Given the description of an element on the screen output the (x, y) to click on. 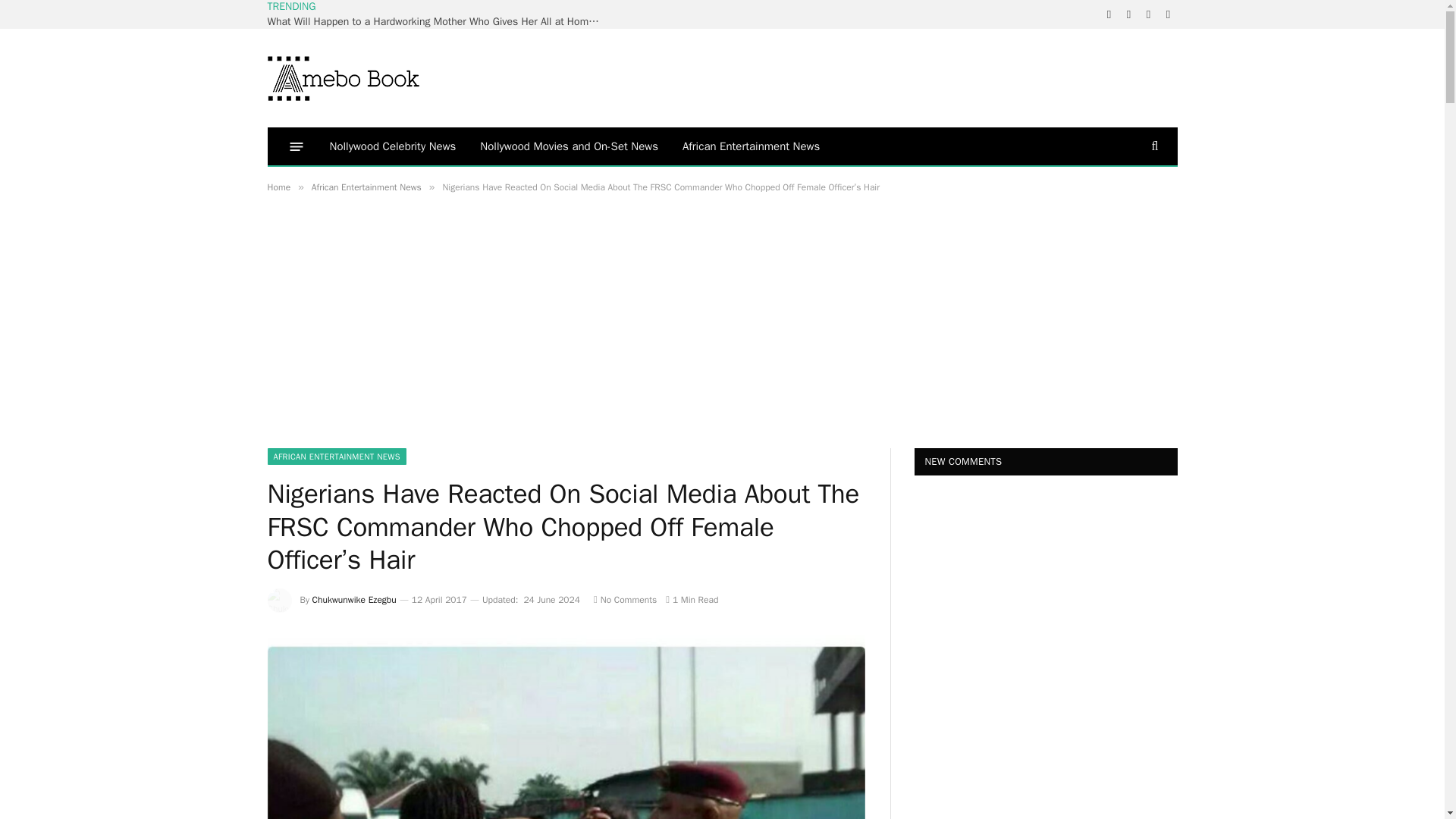
AFRICAN ENTERTAINMENT NEWS (336, 456)
Advertisement (901, 75)
No Comments (625, 599)
Amebo Book (342, 78)
Advertisement (393, 331)
African Entertainment News (750, 146)
Home (277, 186)
Posts by Chukwunwike Ezegbu (354, 599)
Nollywood Celebrity News (392, 146)
African Entertainment News (366, 186)
Nollywood Movies and On-Set News (568, 146)
Chukwunwike Ezegbu (354, 599)
